Given the description of an element on the screen output the (x, y) to click on. 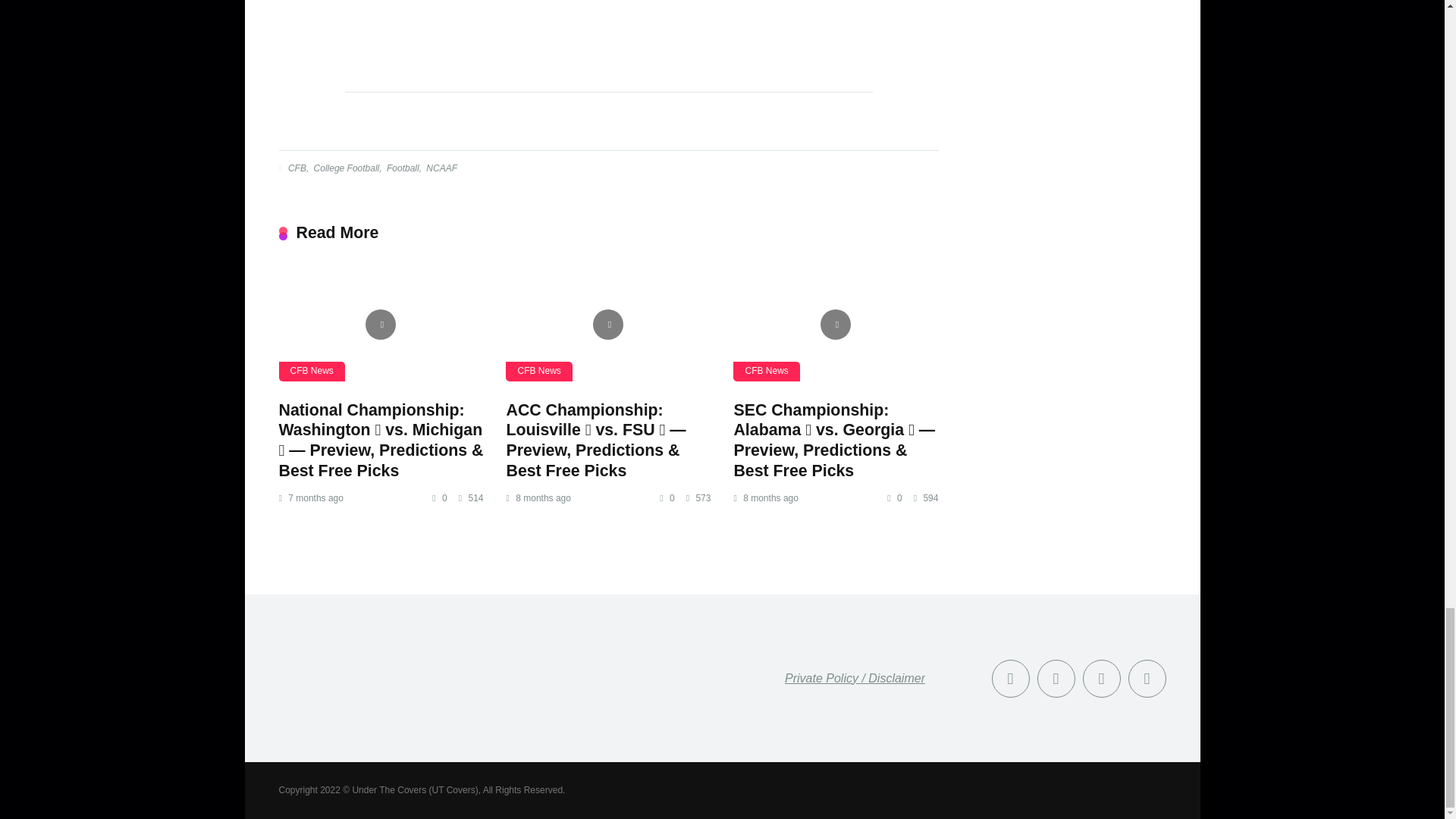
CFB News (538, 370)
NCAAF (440, 167)
CFB (295, 167)
CFB News (766, 370)
Facebook (1010, 677)
Instagram (1147, 677)
YouTube (1102, 677)
CFB News (312, 370)
Twitter (1055, 677)
Football (401, 167)
College Football (345, 167)
